Given the description of an element on the screen output the (x, y) to click on. 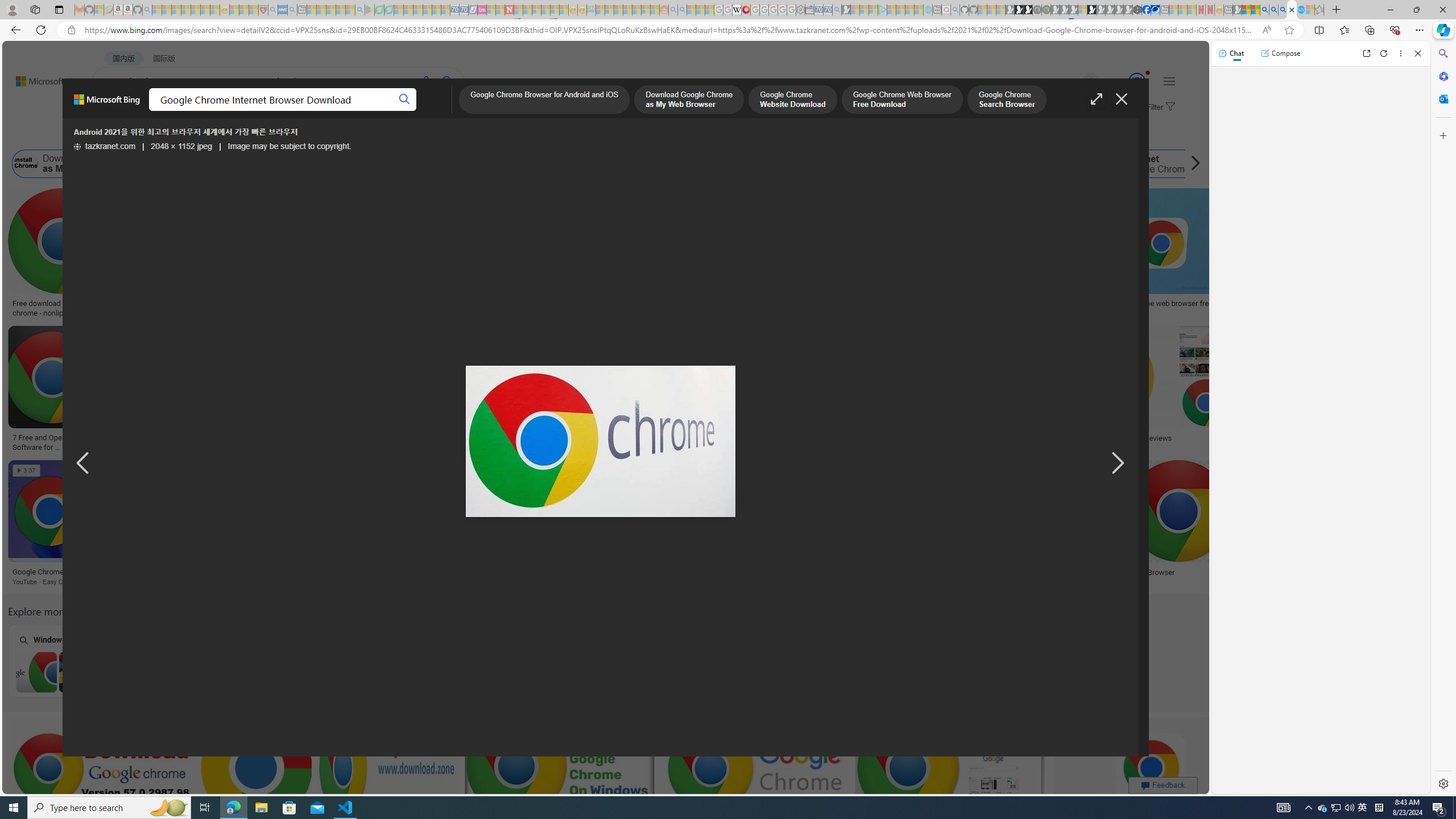
Download internet explorer 9.0 free - snorobot (454, 571)
Next image result (1117, 463)
Download video online chrome - hresadish (188, 307)
MSN - Sleeping (1236, 9)
Google Chrome Review | Top Ten Reviews (1103, 437)
Google Chrome Review | Top Ten ReviewsSave (1132, 390)
Internet Google Chrome (1147, 163)
